Given the description of an element on the screen output the (x, y) to click on. 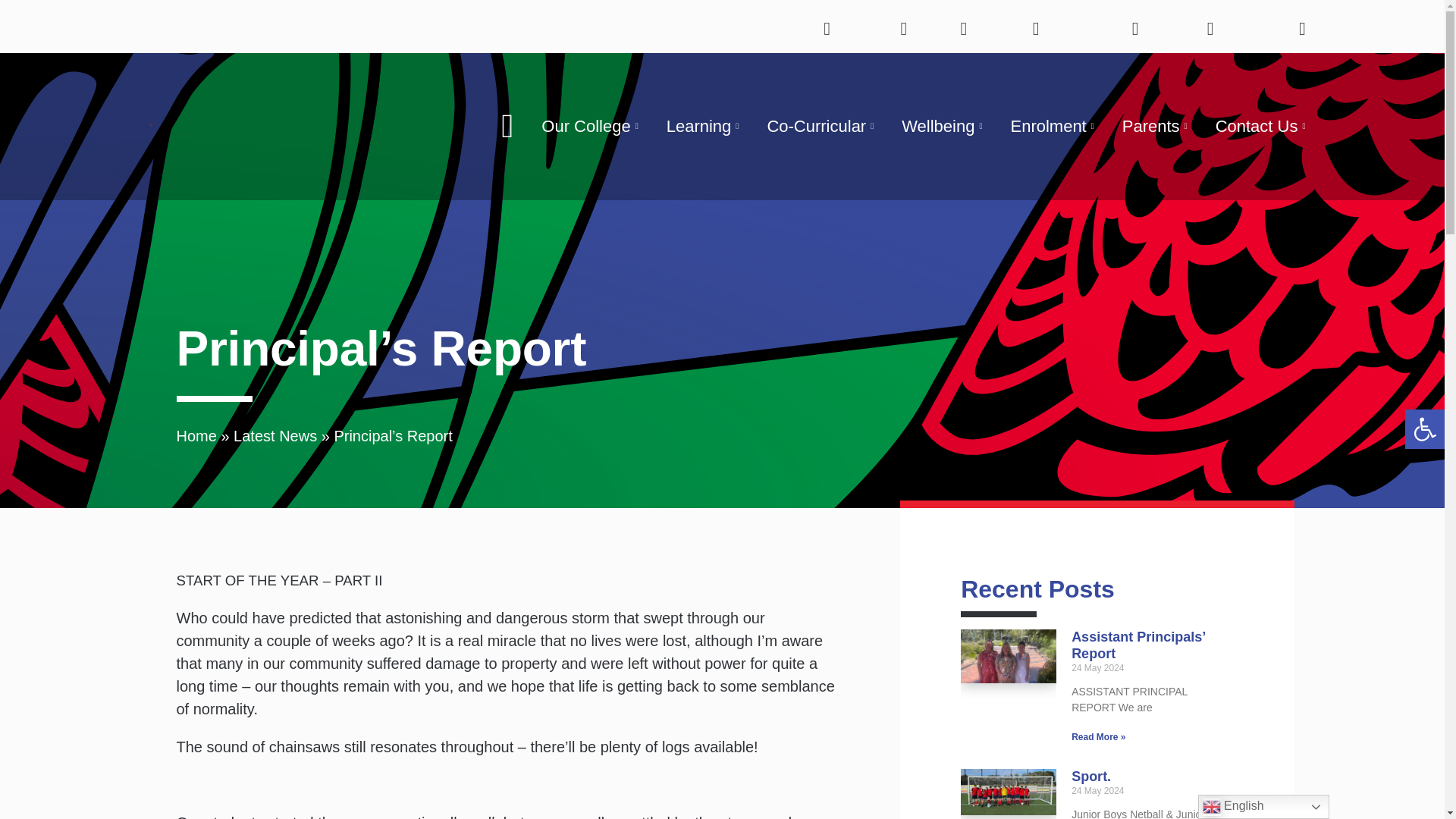
Our College (591, 126)
Accessibility Tools (1424, 428)
